Given the description of an element on the screen output the (x, y) to click on. 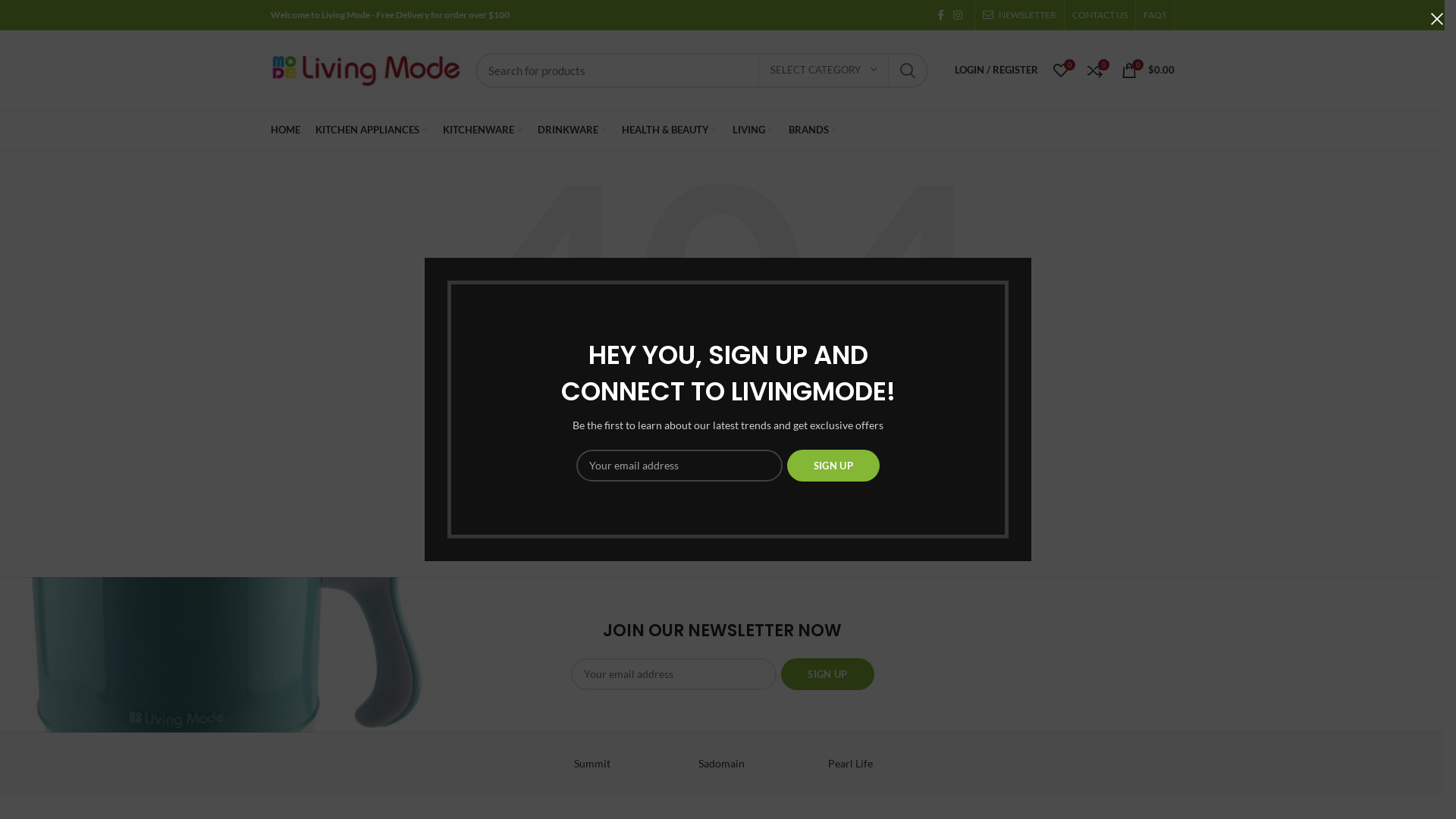
SELECT CATEGORY Element type: text (823, 70)
0
$0.00 Element type: text (1147, 69)
LIVING Element type: text (752, 130)
Brand AQUAMATE Element type: hover (1237, 763)
KITCHENWARE Element type: text (482, 130)
KITCHEN APPLIANCES Element type: text (371, 130)
Brand TESCOM Element type: hover (462, 763)
Brand Living Mode Element type: hover (979, 763)
NEWSLETTER Element type: text (1019, 15)
Sign up Element type: text (833, 465)
Pearl Life Element type: text (850, 763)
Brand Holdit Element type: hover (1108, 763)
SEARCH Element type: text (907, 70)
0 Element type: text (1094, 69)
BRANDS Element type: text (812, 130)
Search for posts Element type: hover (721, 528)
HEALTH & BEAUTY Element type: text (669, 130)
Search for products Element type: hover (700, 70)
LOGIN / REGISTER Element type: text (995, 69)
Brand Zojirushi Element type: hover (333, 763)
Sadomain Element type: text (720, 763)
FAQS Element type: text (1154, 15)
Sign up Element type: text (827, 674)
CONTACT US Element type: text (1099, 15)
0 Element type: text (1059, 69)
SEARCH Element type: text (853, 528)
Summit Element type: text (591, 763)
DRINKWARE Element type: text (571, 130)
HOME Element type: text (284, 130)
